Given the description of an element on the screen output the (x, y) to click on. 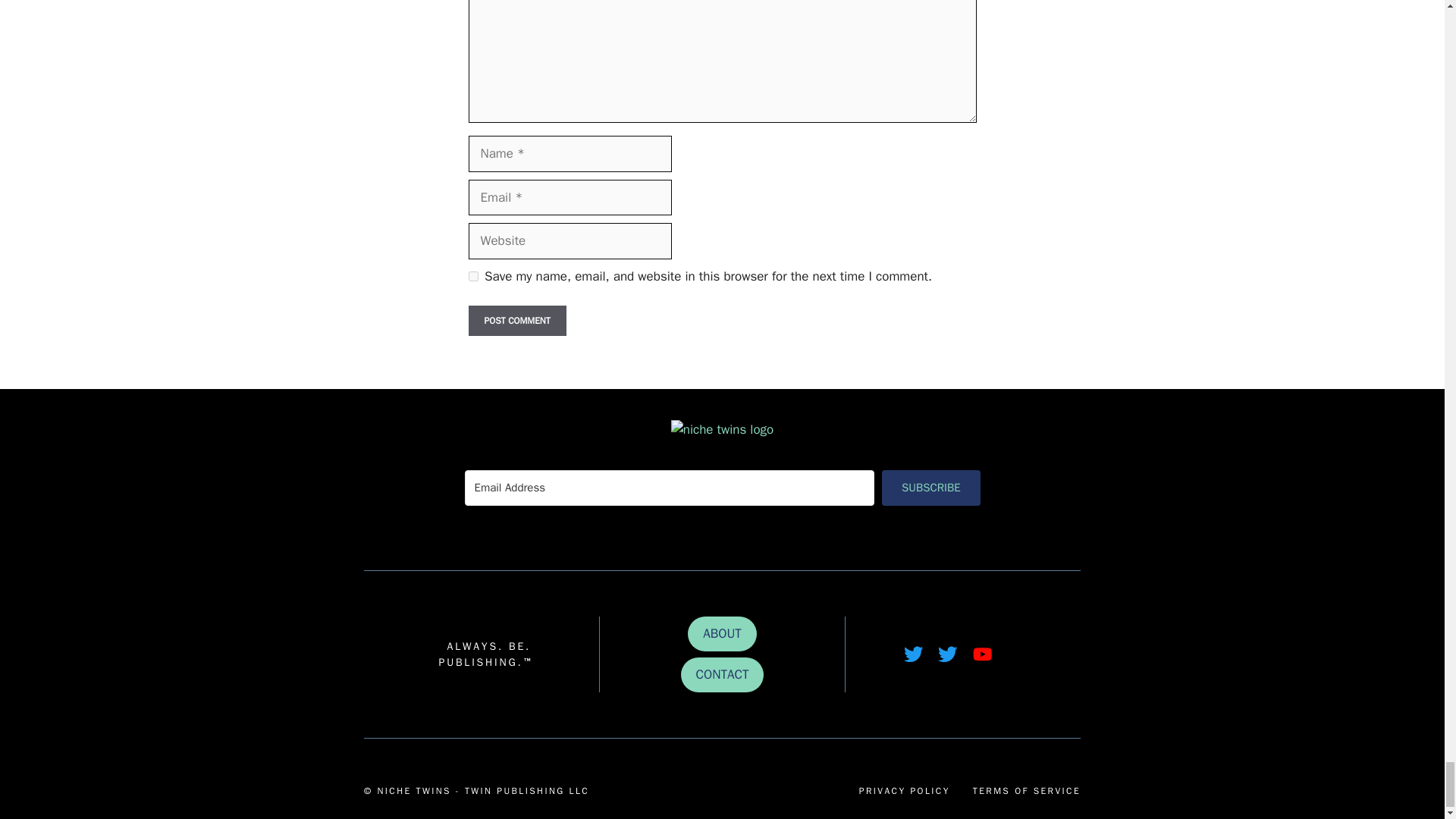
yes (473, 276)
Post Comment (517, 320)
